Given the description of an element on the screen output the (x, y) to click on. 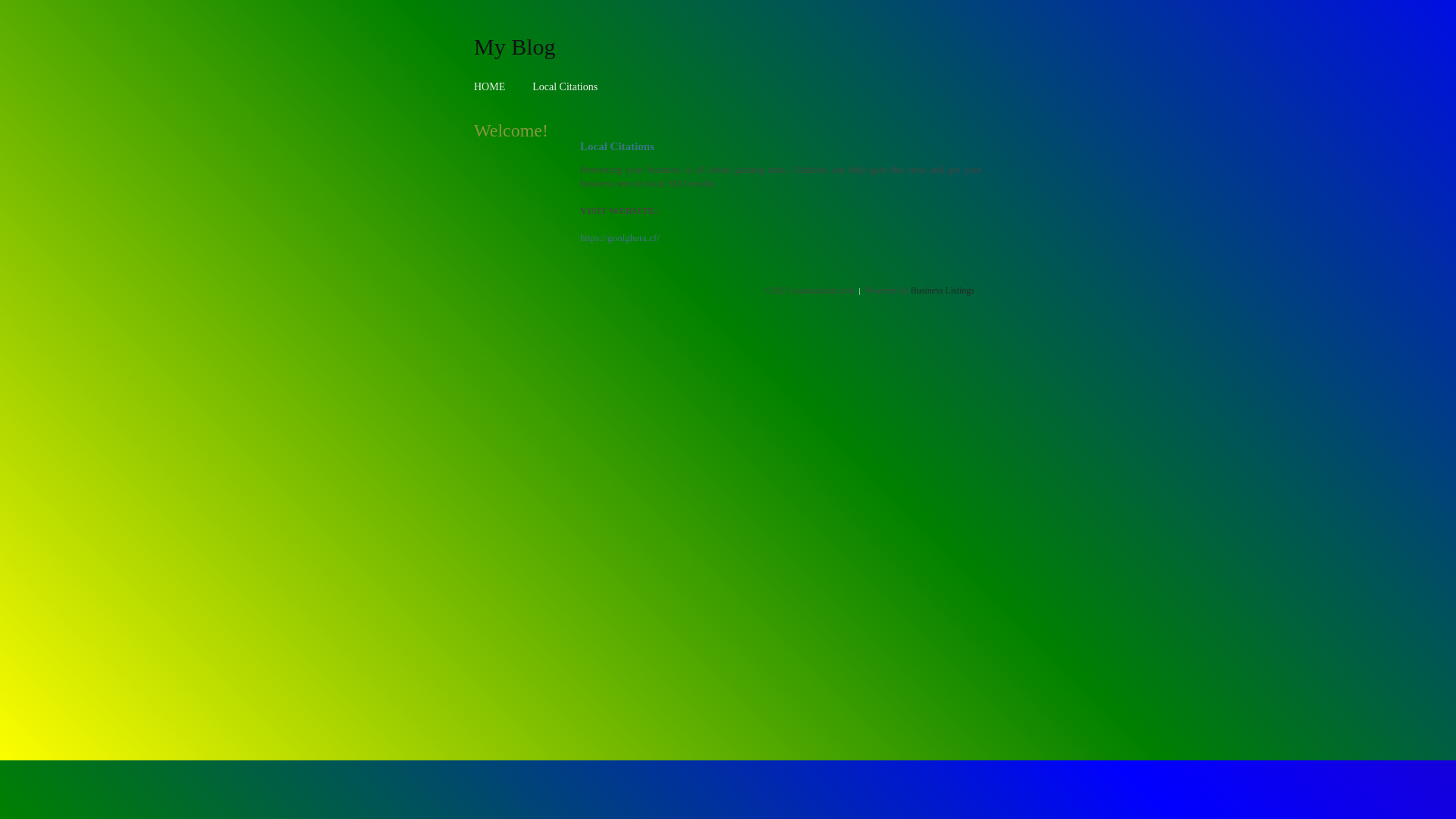
My Blog Element type: text (514, 46)
Local Citations Element type: text (564, 86)
Business Listings Element type: text (942, 290)
HOME Element type: text (489, 86)
https://goolghera.cf/ Element type: text (619, 237)
